Given the description of an element on the screen output the (x, y) to click on. 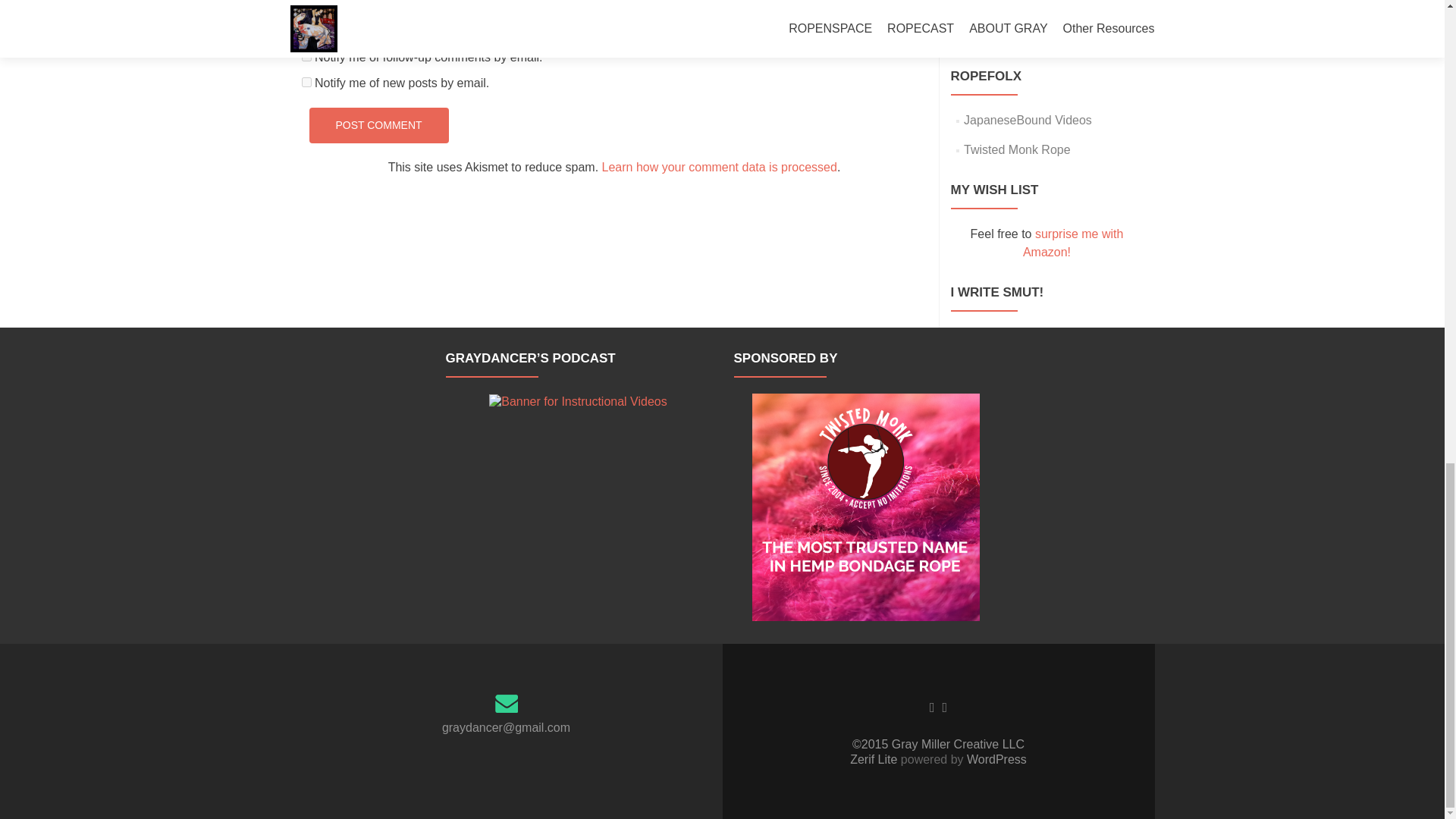
subscribe (306, 56)
Post Comment (378, 125)
subscribe (306, 81)
Post Comment (378, 125)
Downloadable rope instruction videos from Japan! (1027, 119)
Learn how your comment data is processed (719, 166)
